Given the description of an element on the screen output the (x, y) to click on. 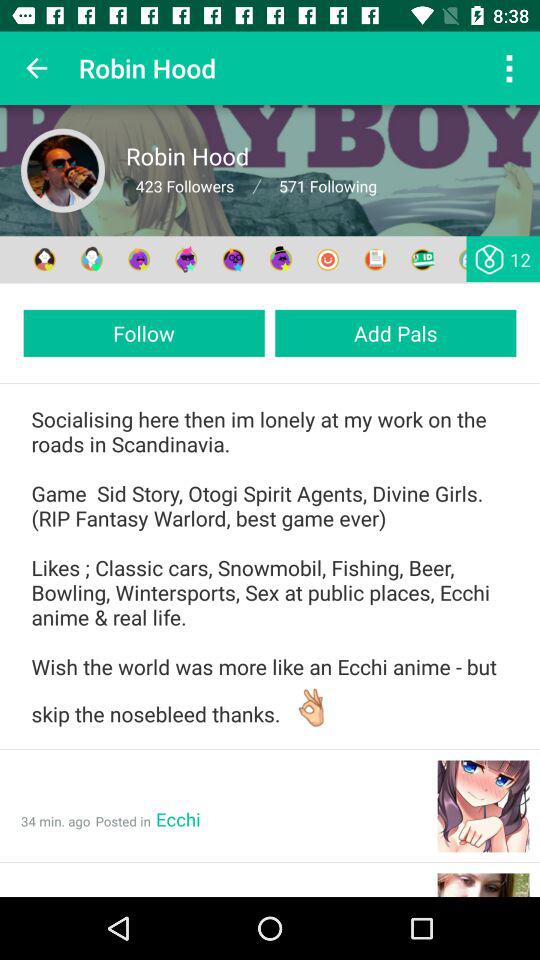
emblem (233, 259)
